Given the description of an element on the screen output the (x, y) to click on. 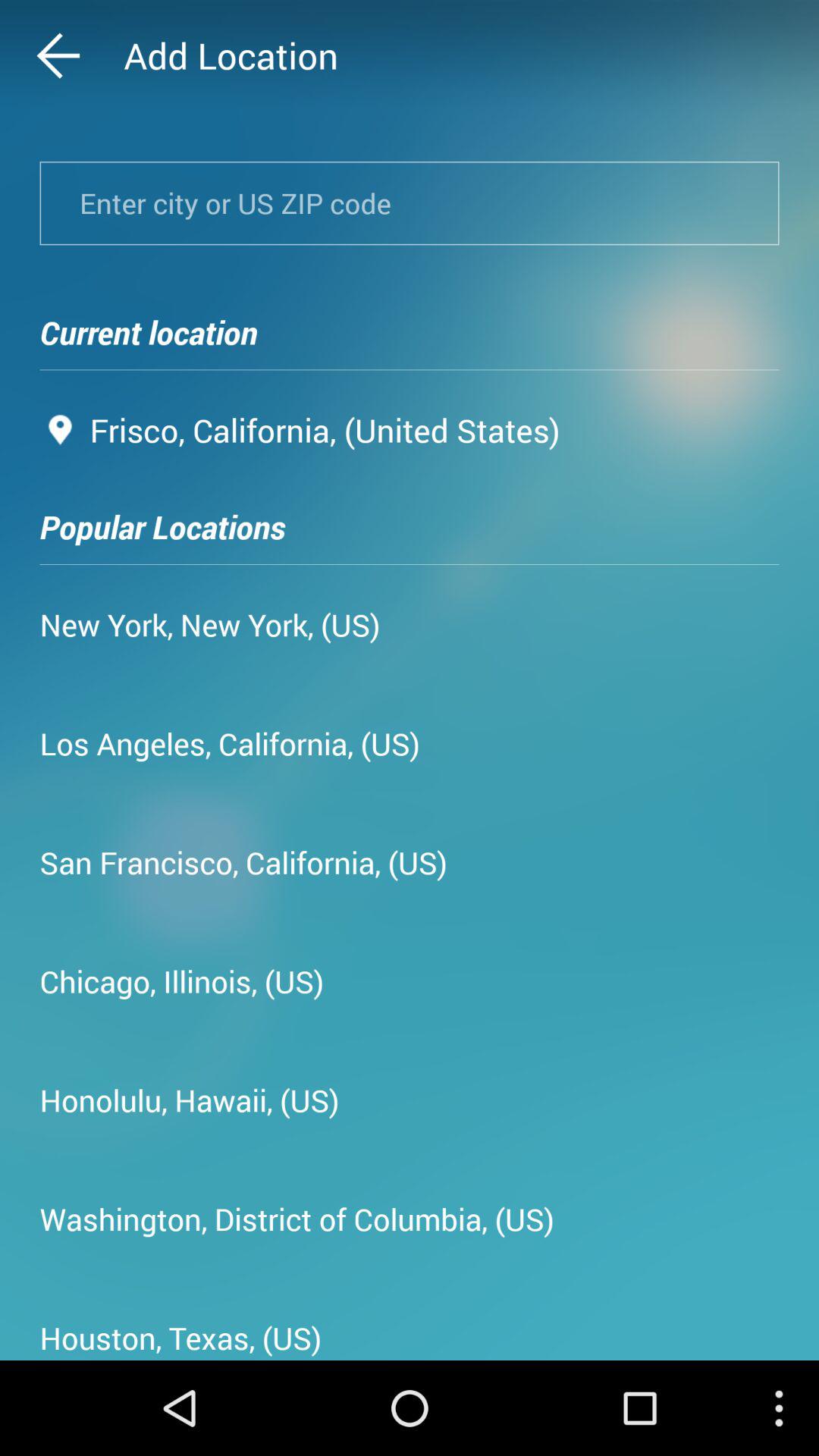
turn off the app above the los angeles california (210, 624)
